Given the description of an element on the screen output the (x, y) to click on. 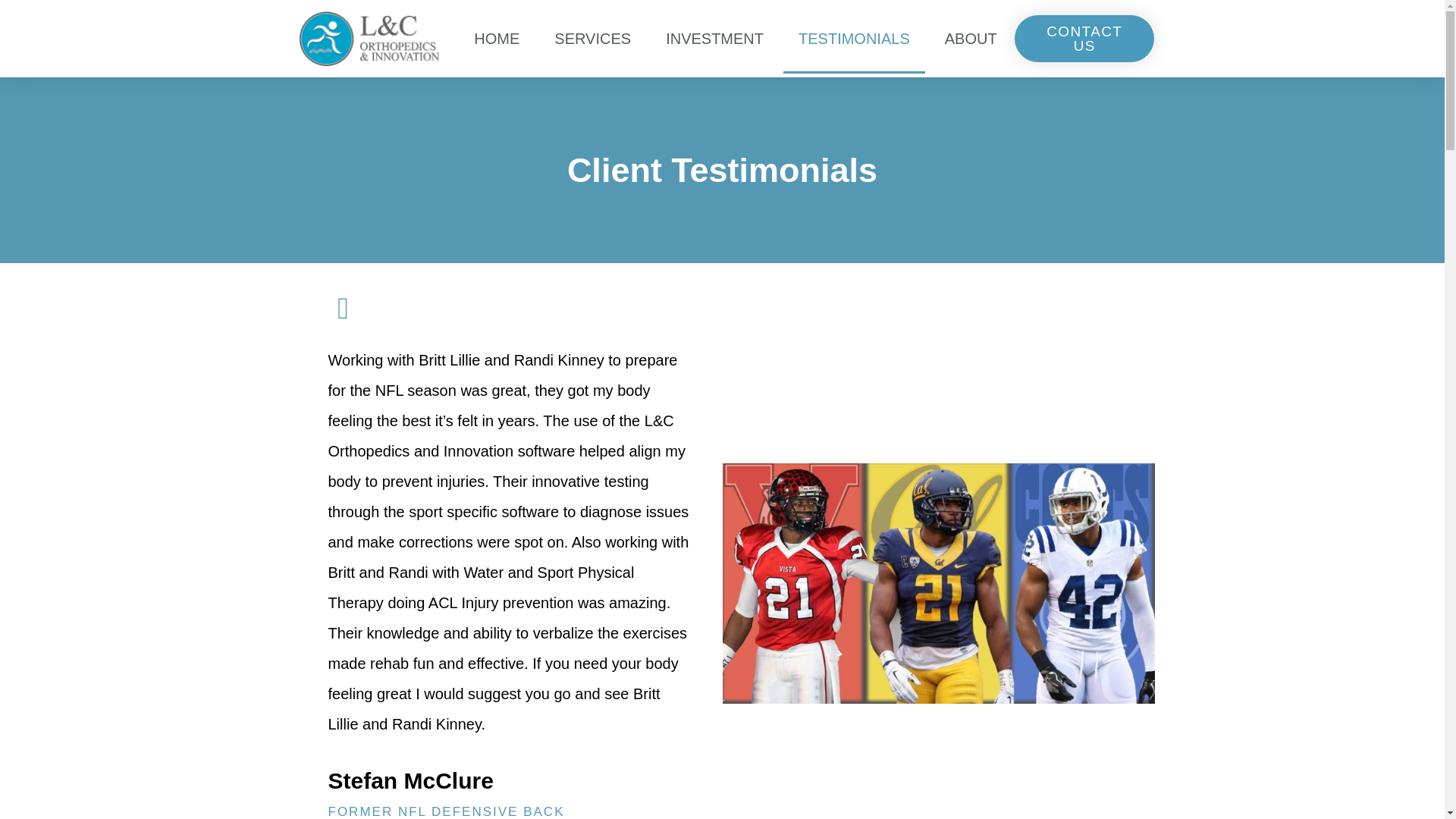
INVESTMENT (714, 38)
HOME (496, 38)
TESTIMONIALS (853, 38)
ABOUT (970, 38)
CONTACT US (1084, 38)
SERVICES (592, 38)
